Given the description of an element on the screen output the (x, y) to click on. 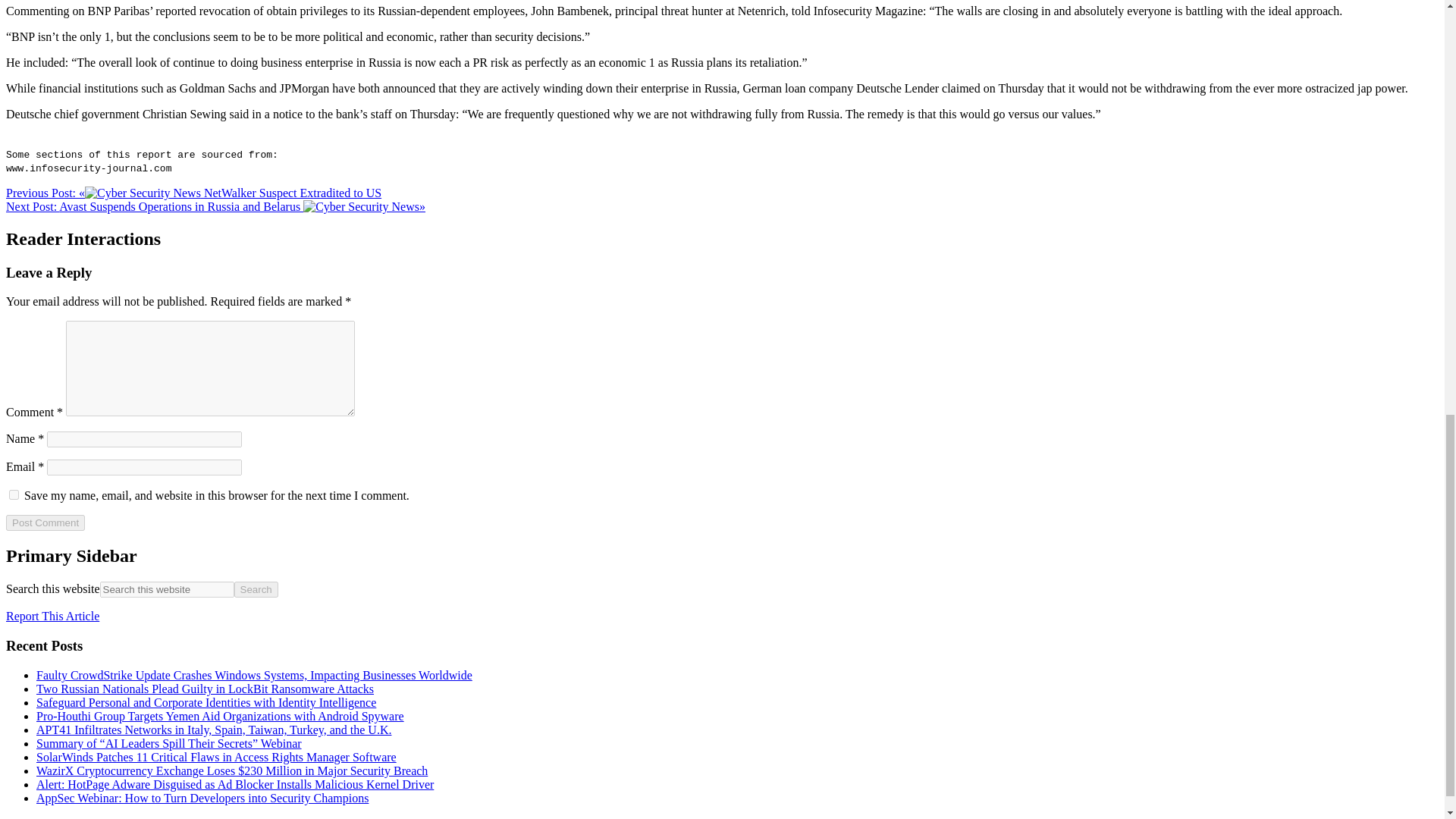
Post Comment (44, 522)
Post Comment (44, 522)
Search (256, 589)
yes (13, 494)
Report This Article (52, 615)
Search (256, 589)
Search (256, 589)
